Given the description of an element on the screen output the (x, y) to click on. 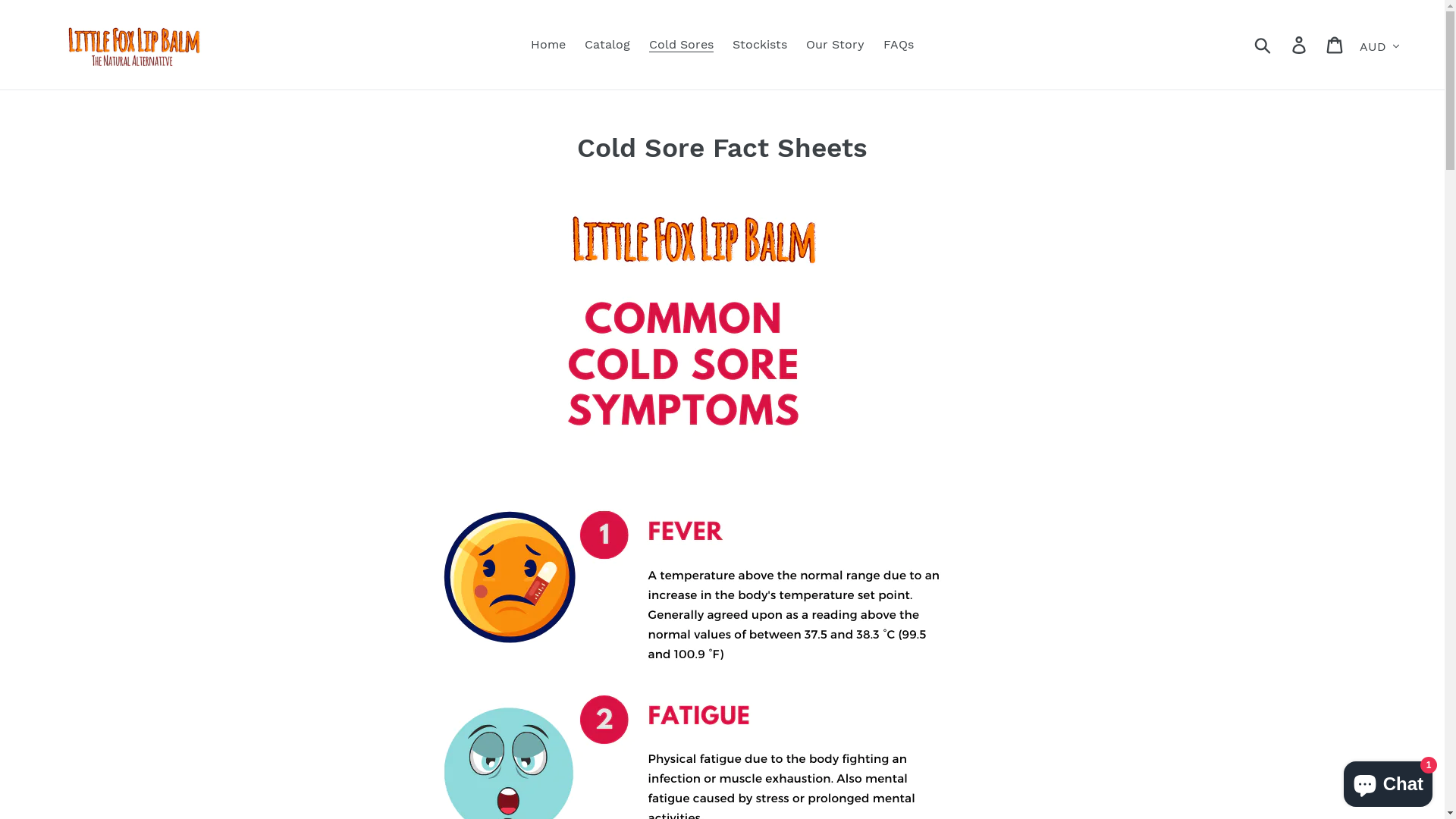
Catalog Element type: text (607, 44)
Shopify online store chat Element type: hover (1388, 780)
Submit Element type: text (1263, 44)
Cart Element type: text (1335, 45)
FAQs Element type: text (898, 44)
Cold Sores Element type: text (681, 44)
Log in Element type: text (1299, 45)
Our Story Element type: text (835, 44)
Stockists Element type: text (759, 44)
Home Element type: text (548, 44)
